Given the description of an element on the screen output the (x, y) to click on. 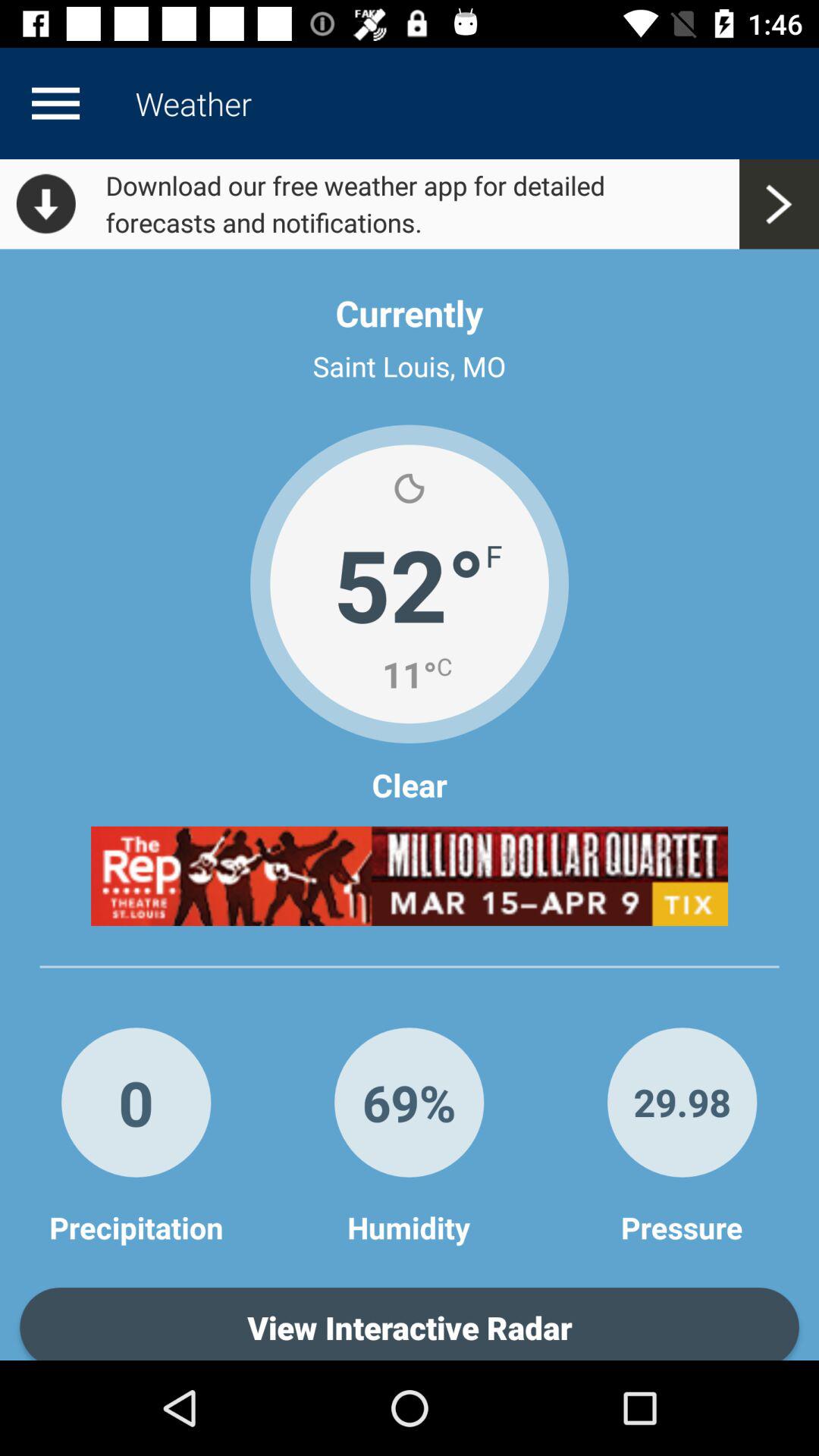
click on advertisement (409, 875)
